Given the description of an element on the screen output the (x, y) to click on. 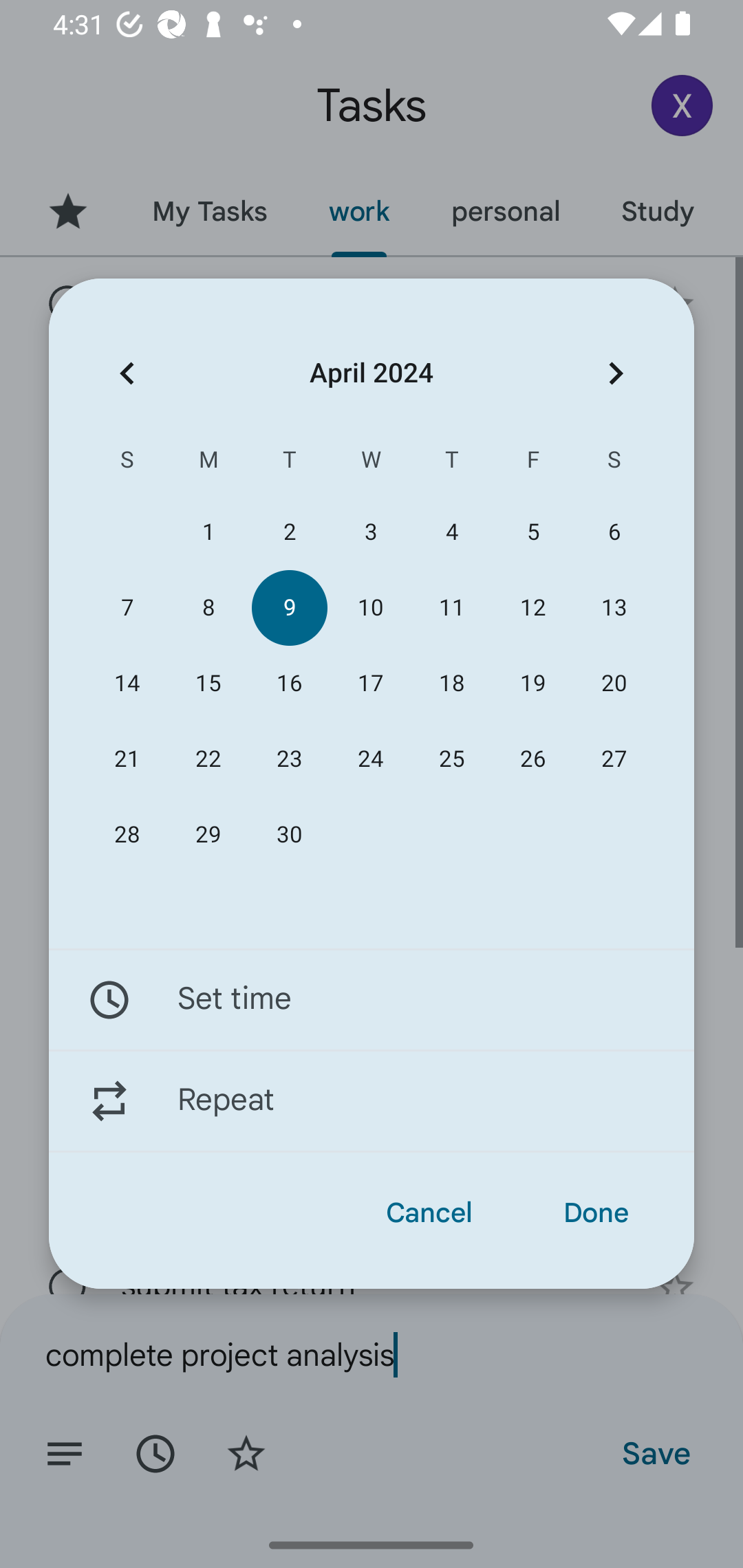
Previous month (126, 372)
Next month (615, 372)
1 01 April 2024 (207, 531)
2 02 April 2024 (288, 531)
3 03 April 2024 (370, 531)
4 04 April 2024 (451, 531)
5 05 April 2024 (532, 531)
6 06 April 2024 (613, 531)
7 07 April 2024 (126, 608)
8 08 April 2024 (207, 608)
9 09 April 2024 (288, 608)
10 10 April 2024 (370, 608)
11 11 April 2024 (451, 608)
12 12 April 2024 (532, 608)
13 13 April 2024 (613, 608)
14 14 April 2024 (126, 683)
15 15 April 2024 (207, 683)
16 16 April 2024 (288, 683)
17 17 April 2024 (370, 683)
18 18 April 2024 (451, 683)
19 19 April 2024 (532, 683)
20 20 April 2024 (613, 683)
21 21 April 2024 (126, 758)
22 22 April 2024 (207, 758)
23 23 April 2024 (288, 758)
24 24 April 2024 (370, 758)
25 25 April 2024 (451, 758)
26 26 April 2024 (532, 758)
27 27 April 2024 (613, 758)
28 28 April 2024 (126, 834)
29 29 April 2024 (207, 834)
30 30 April 2024 (288, 834)
Set time (371, 999)
Repeat (371, 1101)
Cancel (429, 1213)
Done (595, 1213)
